Given the description of an element on the screen output the (x, y) to click on. 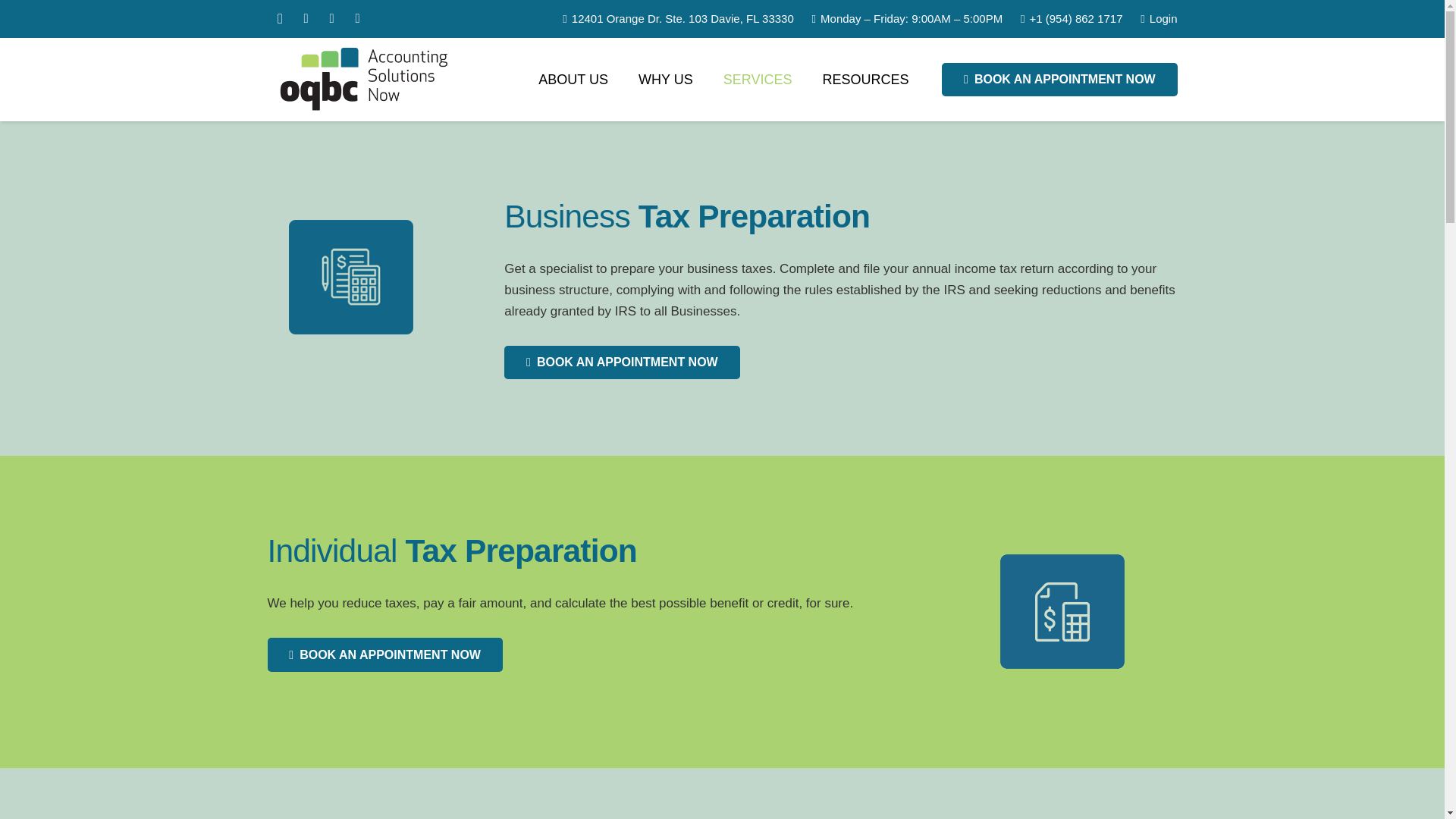
BOOK AN APPOINTMENT NOW (384, 654)
LinkedIn (330, 18)
Facebook (305, 18)
Instagram (279, 18)
SERVICES (757, 79)
YouTube (356, 18)
RESOURCES (864, 79)
BOOK AN APPOINTMENT NOW (621, 362)
BOOK AN APPOINTMENT NOW (1059, 80)
ABOUT US (572, 79)
12401 Orange Dr. Ste. 103 Davie, FL 33330 (677, 18)
WHY US (665, 79)
Login (1158, 18)
